Given the description of an element on the screen output the (x, y) to click on. 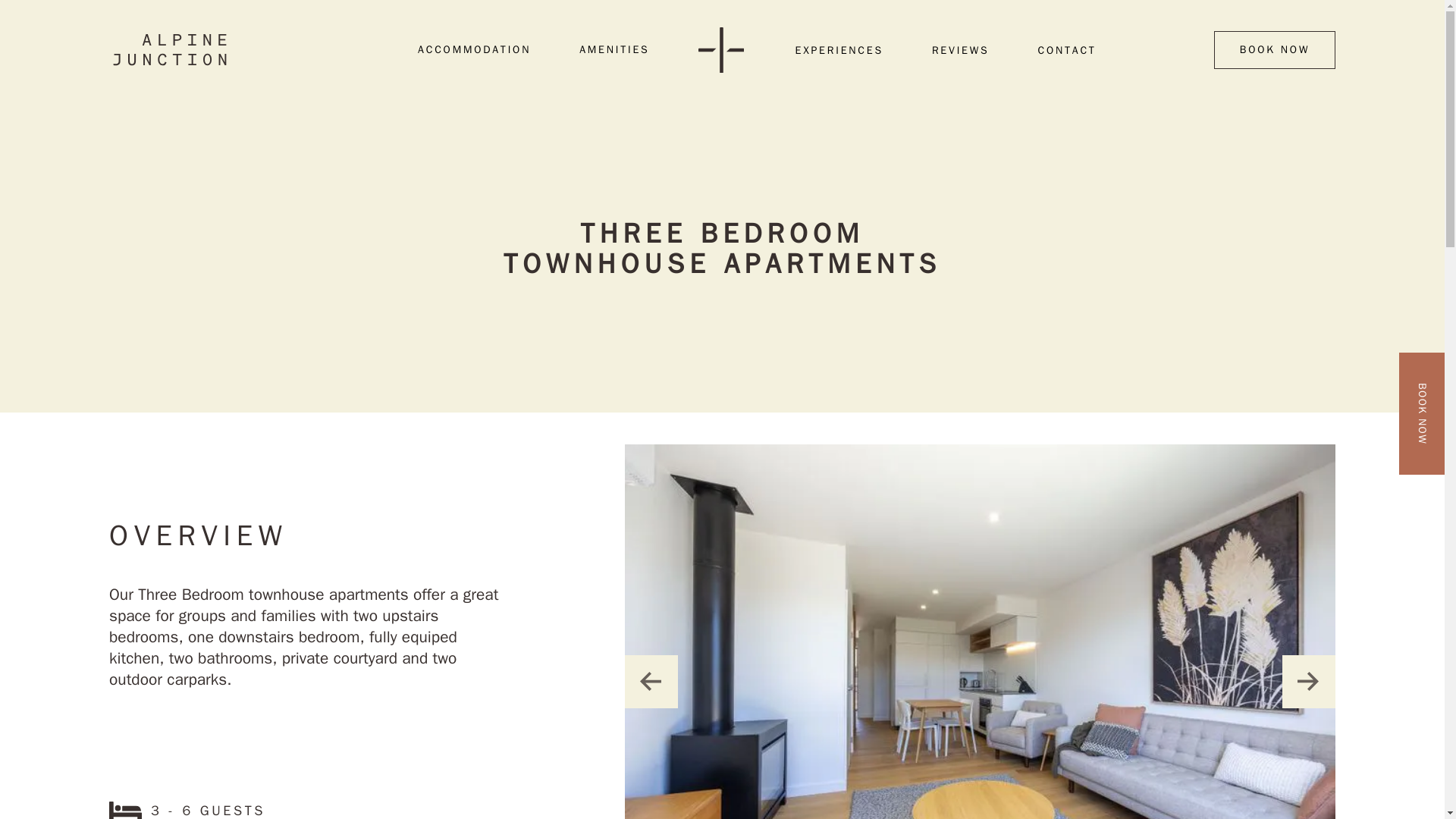
CONTACT (1066, 50)
ACCOMMODATION (474, 50)
EXPERIENCES (838, 50)
Next (1308, 681)
AMENITIES (614, 49)
REVIEWS (960, 50)
Previous (651, 681)
BOOK NOW (1274, 49)
